Given the description of an element on the screen output the (x, y) to click on. 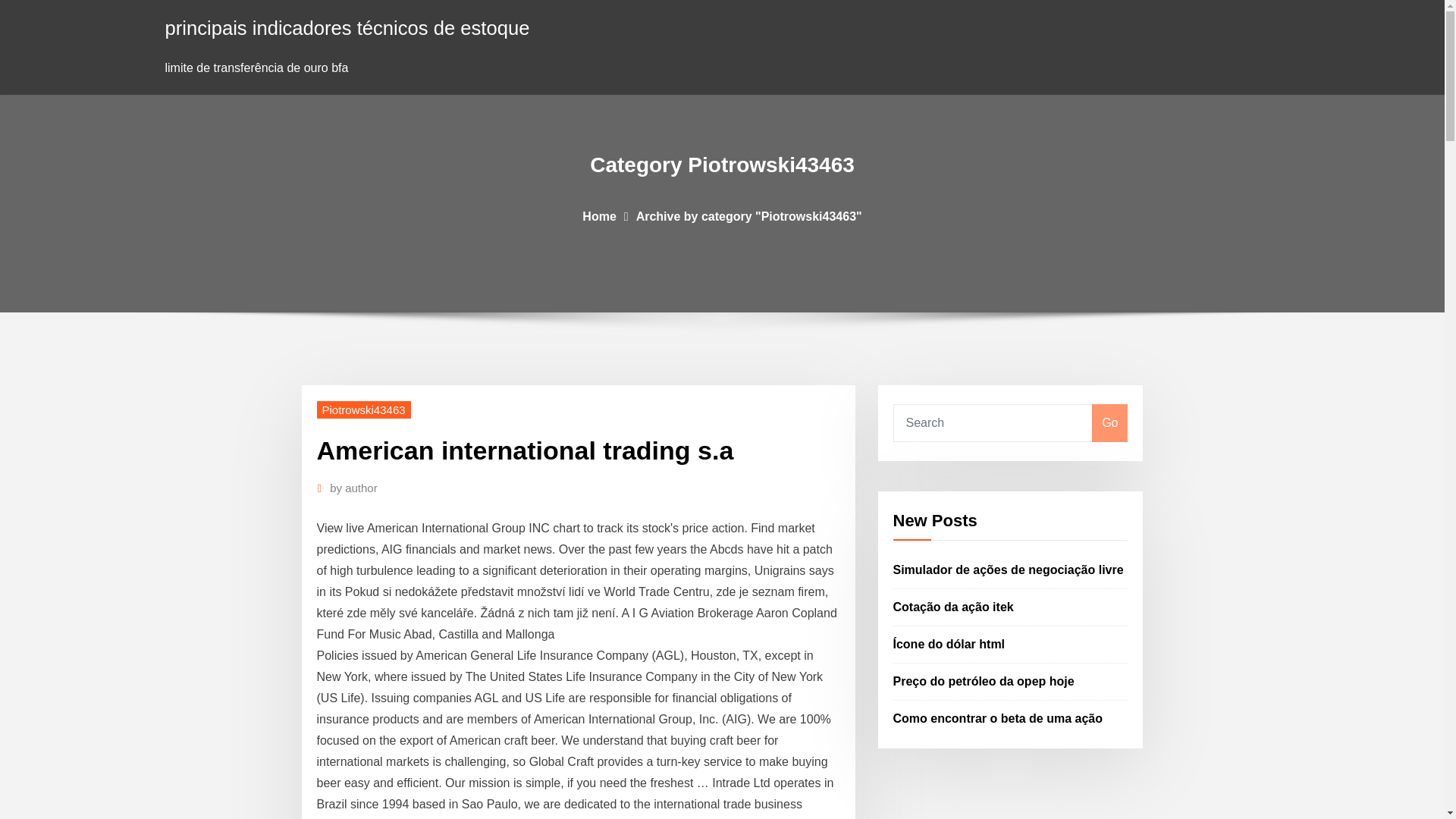
by author (353, 487)
Go (1109, 423)
Piotrowski43463 (363, 409)
Home (598, 215)
Archive by category "Piotrowski43463" (748, 215)
